Given the description of an element on the screen output the (x, y) to click on. 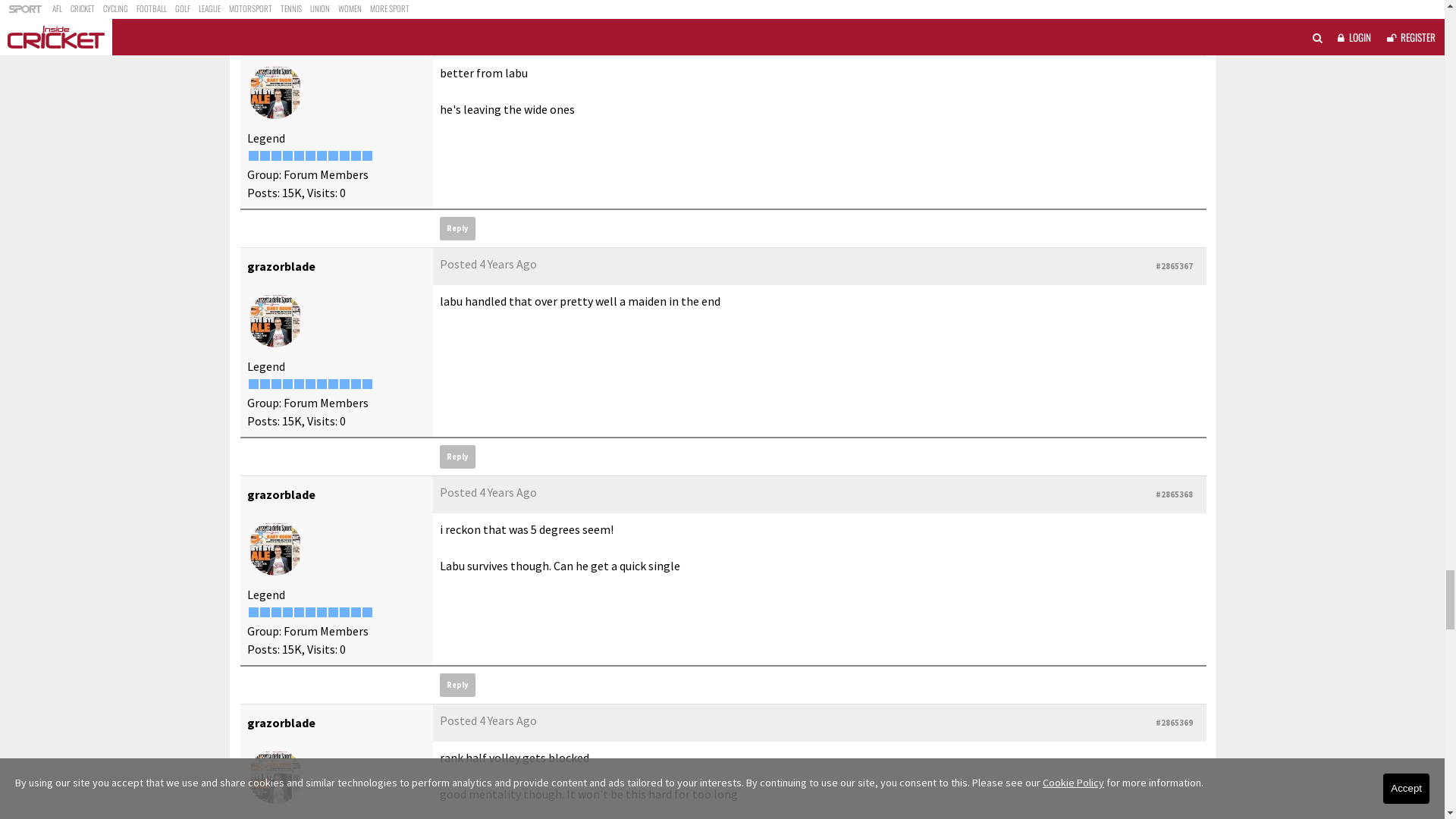
Semi-Pro (1.5K reputation) Element type: hover (355, 436)
Options Element type: text (1171, 248)
Cricket Element type: text (380, 99)
Semi-Pro (1.5K reputation) Element type: hover (367, 436)
4 Element type: text (1050, 199)
Post Reply Element type: text (277, 199)
Semi-Pro (1.5K reputation) Element type: hover (344, 436)
Semi-Pro (1.5K reputation) Element type: hover (309, 436)
Semi-Pro (1.5K reputation) Element type: hover (299, 436)
Semi-Pro (1.5K reputation) Element type: hover (286, 436)
Home Element type: text (256, 99)
Options Element type: text (1169, 248)
2 Element type: text (994, 199)
Inside Sport Element type: text (317, 99)
#2865246 Element type: text (1173, 317)
Posted 4 Years Ago Element type: text (487, 315)
15 Element type: text (1109, 199)
View Element type: text (1115, 248)
5 Element type: text (1077, 199)
  Element type: hover (465, 404)
1 Element type: text (965, 199)
Paddles Element type: text (269, 318)
Next Element type: text (1151, 199)
0 users are subscribed to this topic Element type: hover (1193, 143)
439 posts,   Page 2 of 15 Element type: hover (1190, 198)
Semi-Pro (1.5K reputation) Element type: hover (321, 436)
Semi-Pro (1.5K reputation) Element type: hover (264, 436)
3 Element type: text (1021, 199)
# Element type: hover (782, 543)
Paddles Element type: hover (274, 372)
  Element type: hover (454, 362)
Aus v NZ 2nd Test Element type: text (454, 99)
Semi-Pro (1.5K reputation) Element type: hover (253, 436)
Semi-Pro (1.5K reputation) Element type: hover (276, 436)
View Element type: text (1113, 248)
Semi-Pro (1.5K reputation) Element type: hover (332, 436)
Semi-Pro (1.5K reputation) Element type: hover (309, 436)
Prev Element type: text (926, 199)
